Given the description of an element on the screen output the (x, y) to click on. 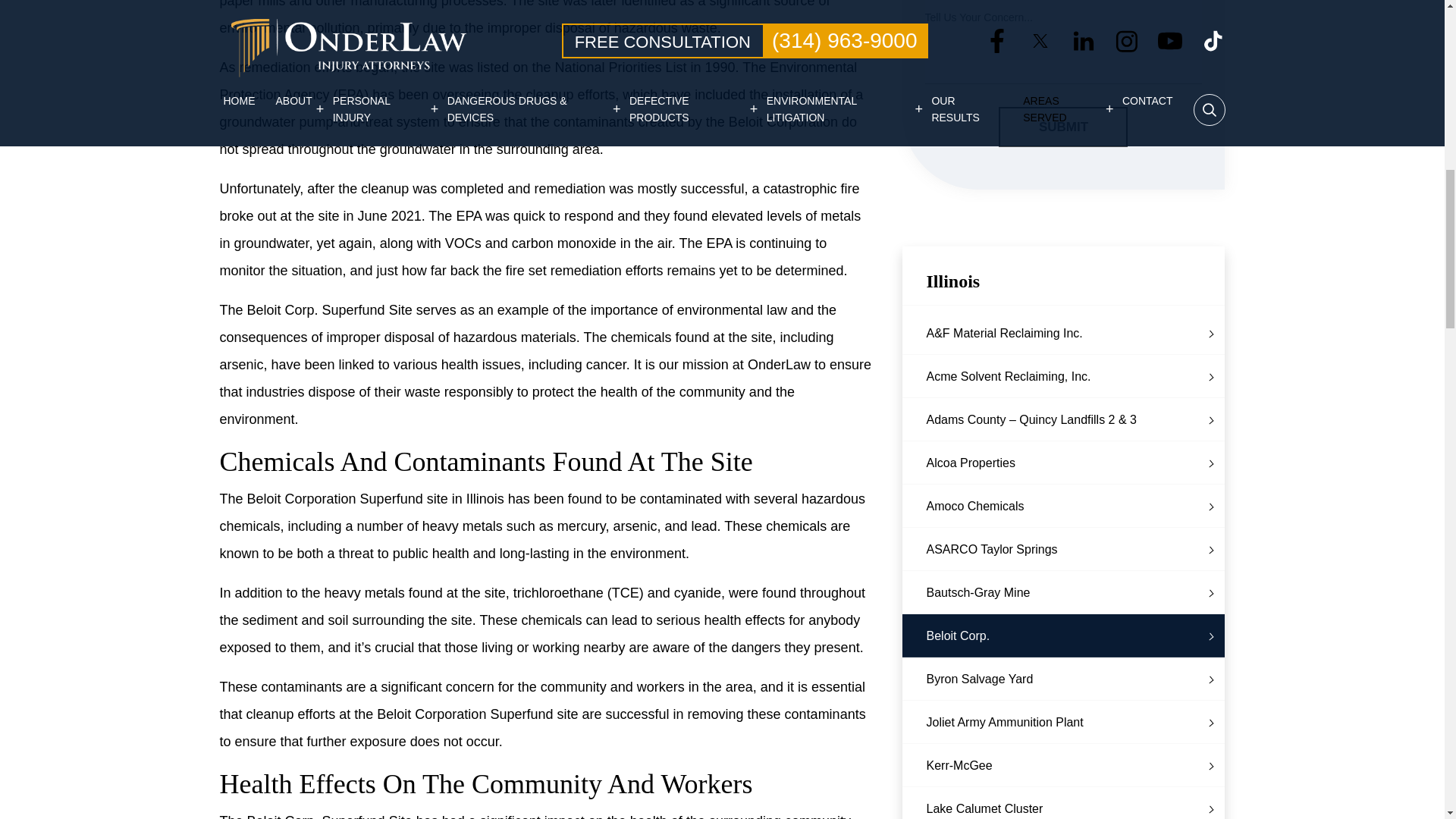
Submit (1062, 127)
